Given the description of an element on the screen output the (x, y) to click on. 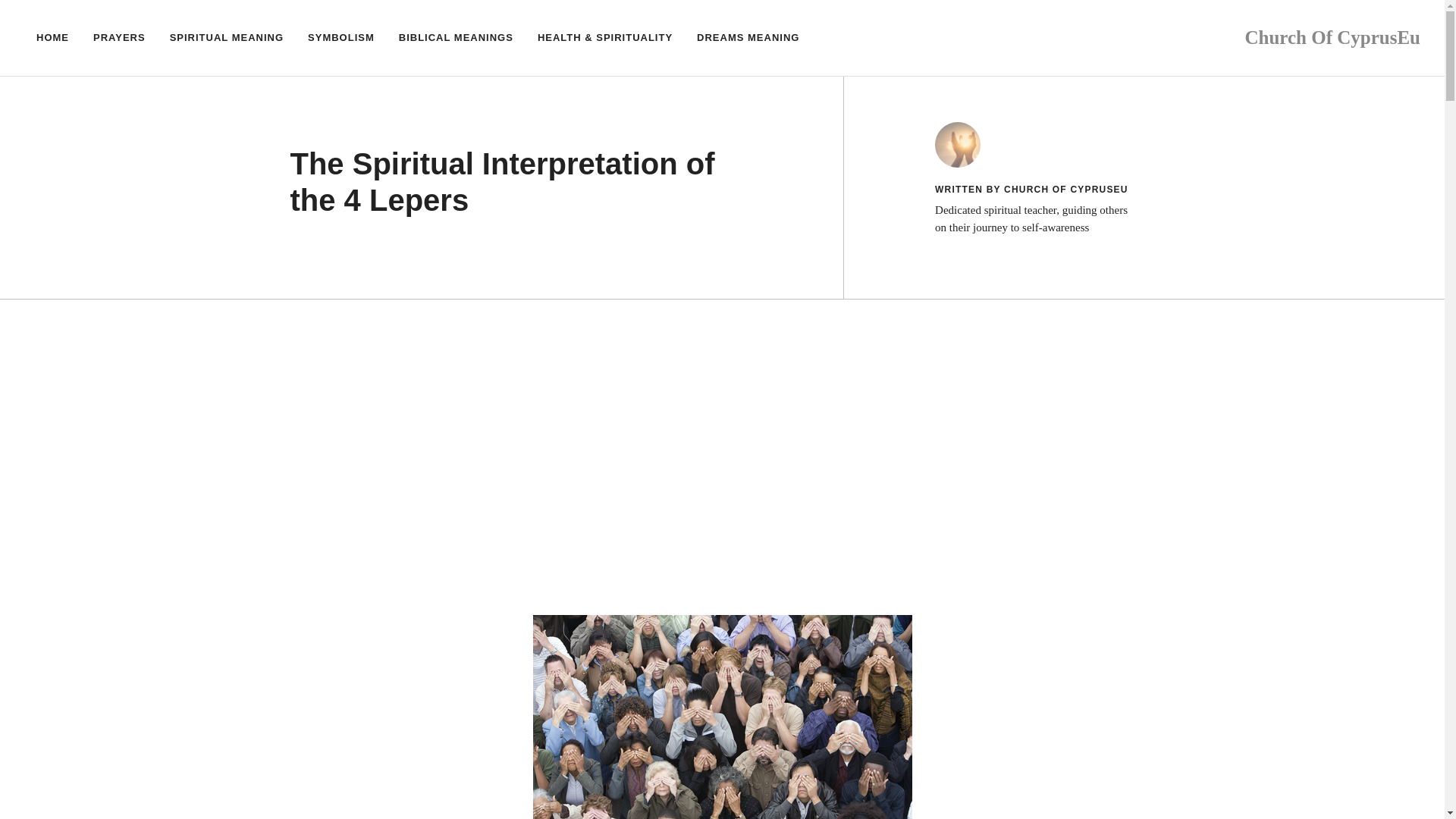
PRAYERS (119, 37)
SPIRITUAL MEANING (226, 37)
Church Of CyprusEu (1332, 37)
DREAMS MEANING (747, 37)
HOME (52, 37)
BIBLICAL MEANINGS (456, 37)
SYMBOLISM (341, 37)
